Given the description of an element on the screen output the (x, y) to click on. 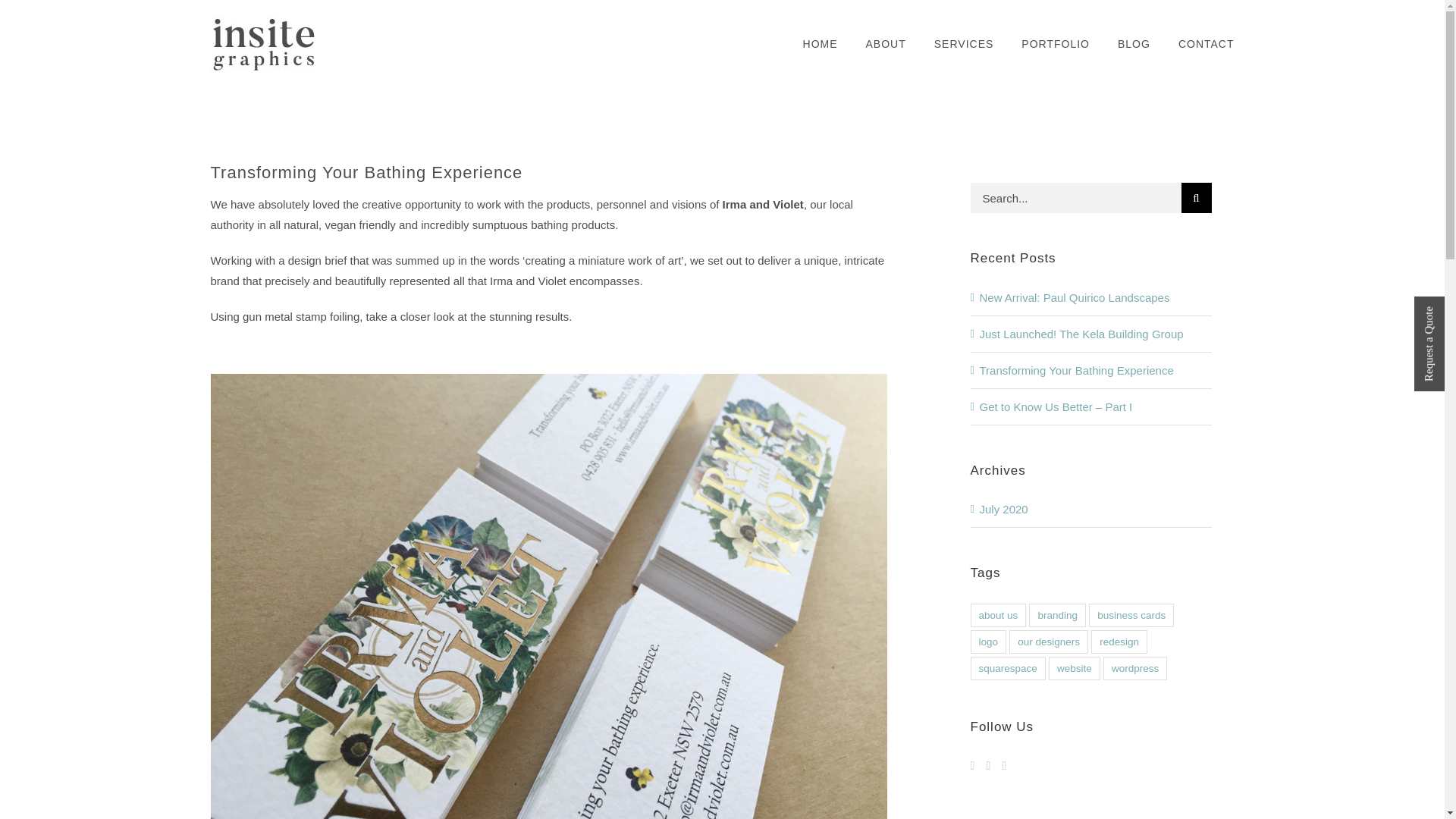
logo (989, 641)
about us (998, 615)
wordpress (1135, 668)
New Arrival: Paul Quirico Landscapes (1074, 297)
Transforming Your Bathing Experience (1076, 369)
business cards (1131, 615)
our designers (1048, 641)
squarespace (1008, 668)
Just Launched! The Kela Building Group (1081, 333)
branding (1057, 615)
redesign (1118, 641)
July 2020 (1003, 508)
website (1074, 668)
